Given the description of an element on the screen output the (x, y) to click on. 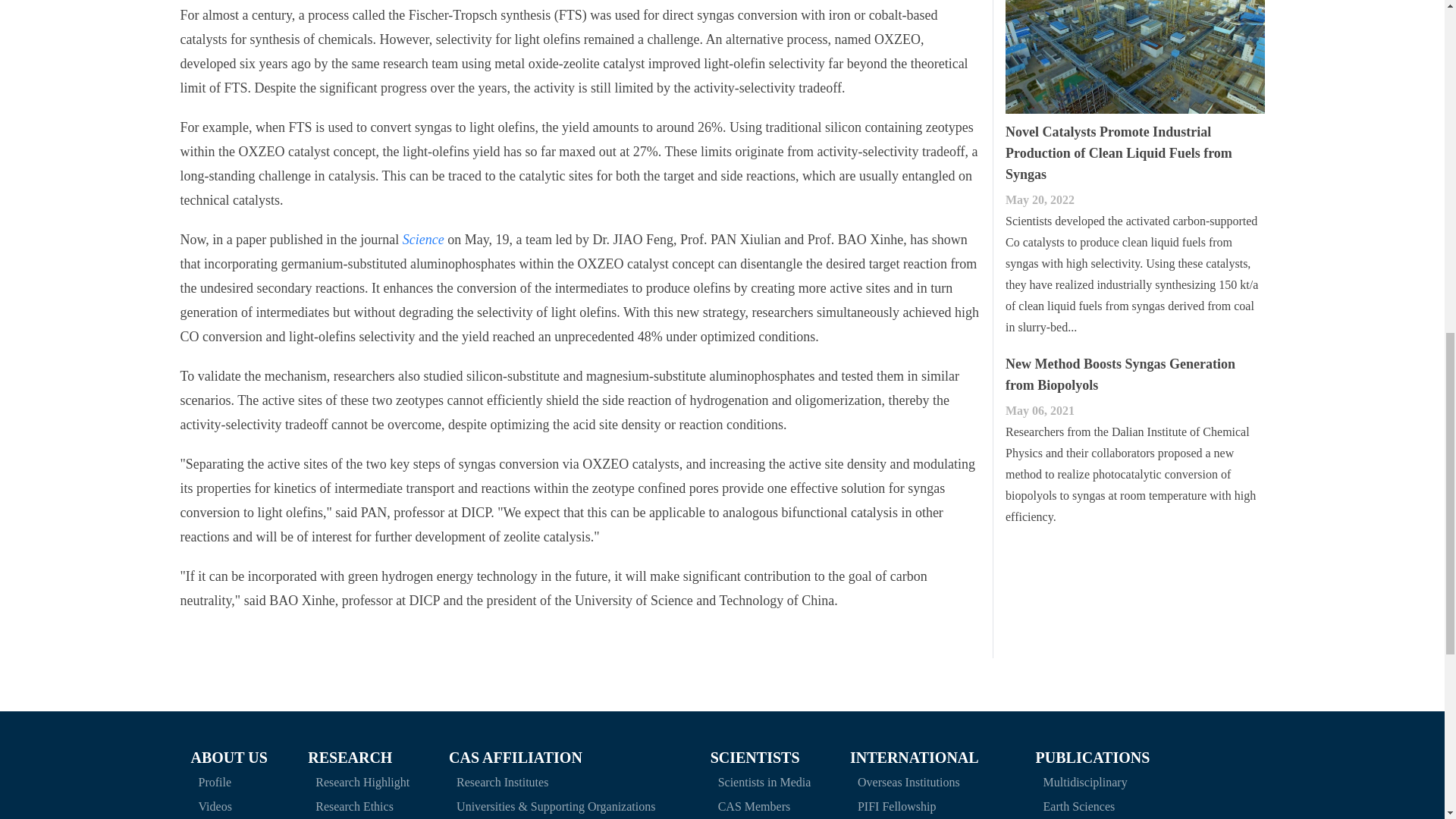
Science (423, 239)
